Given the description of an element on the screen output the (x, y) to click on. 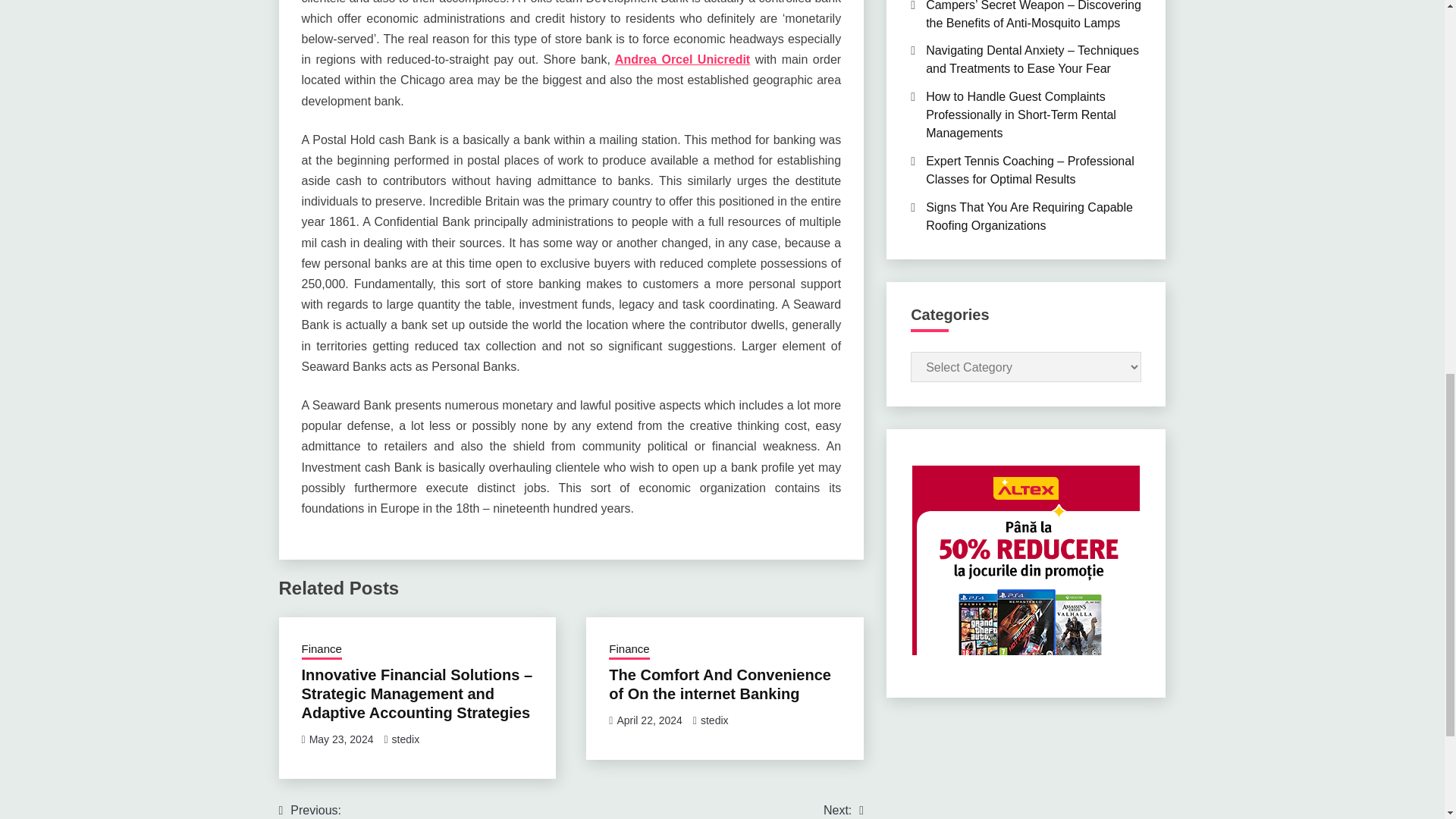
Andrea Orcel Unicredit (681, 59)
stedix (405, 739)
May 23, 2024 (341, 739)
Finance (321, 650)
stedix (714, 720)
Finance (628, 650)
The Comfort And Convenience of On the internet Banking (719, 683)
April 22, 2024 (648, 720)
